Given the description of an element on the screen output the (x, y) to click on. 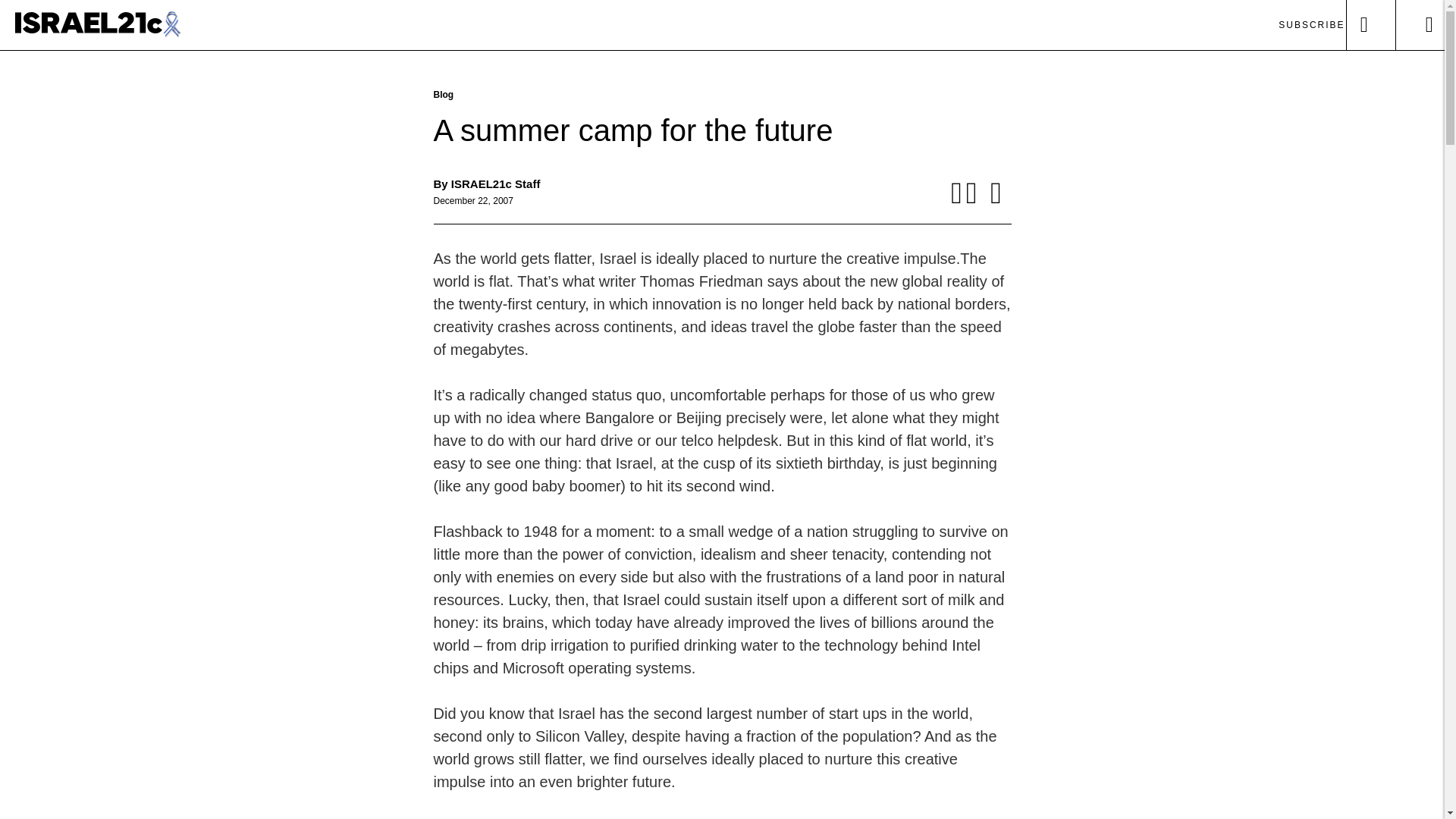
ISRAEL21c Staff (495, 183)
SUBSCRIBE (1310, 24)
search (1363, 24)
